Given the description of an element on the screen output the (x, y) to click on. 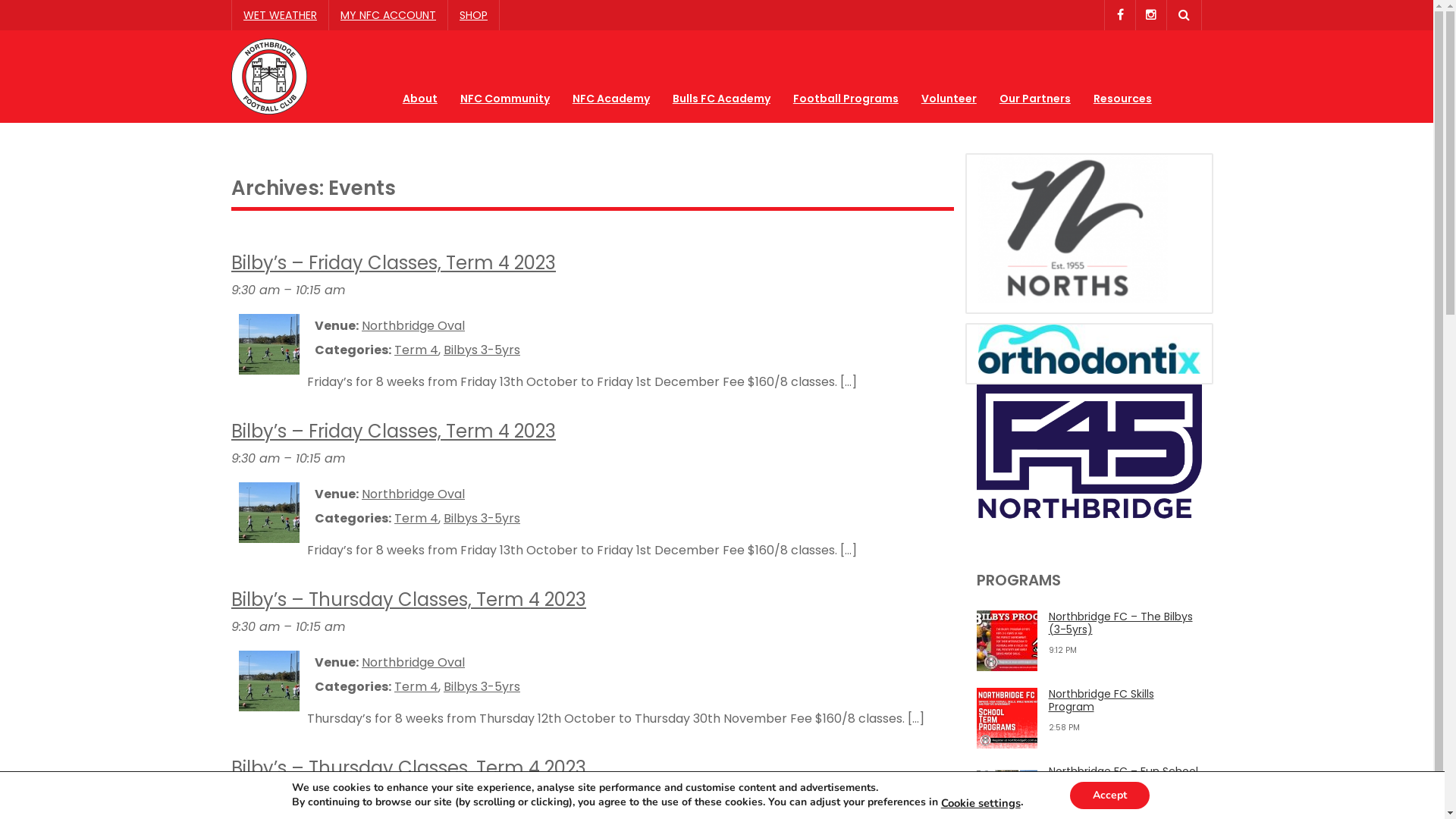
SHOP Element type: text (473, 15)
Events | Northbridge Football Club Element type: hover (269, 75)
Term 4 Element type: text (416, 349)
Cookie settings Element type: text (980, 802)
NFC Community Element type: text (504, 71)
Bilbys 3-5yrs Element type: text (481, 518)
Northbridge Oval Element type: text (412, 662)
Northbridge Oval Element type: text (412, 325)
Northbridge FC Skills Program Element type: text (1100, 700)
Volunteer Element type: text (949, 71)
About Element type: text (419, 71)
Bilbys 3-5yrs Element type: text (481, 686)
Bilbys 3-5yrs Element type: text (481, 349)
WET WEATHER Element type: text (279, 15)
Bulls FC Academy Element type: text (721, 71)
Accept Element type: text (1109, 795)
Our Partners Element type: text (1035, 71)
Football Programs Element type: text (845, 71)
Term 4 Element type: text (416, 686)
MY NFC ACCOUNT Element type: text (387, 15)
NFC Academy Element type: text (611, 71)
Term 4 Element type: text (416, 518)
Northbridge FC Skills Program Element type: hover (1006, 717)
Northbridge Oval Element type: text (412, 493)
Resources Element type: text (1122, 71)
